Given the description of an element on the screen output the (x, y) to click on. 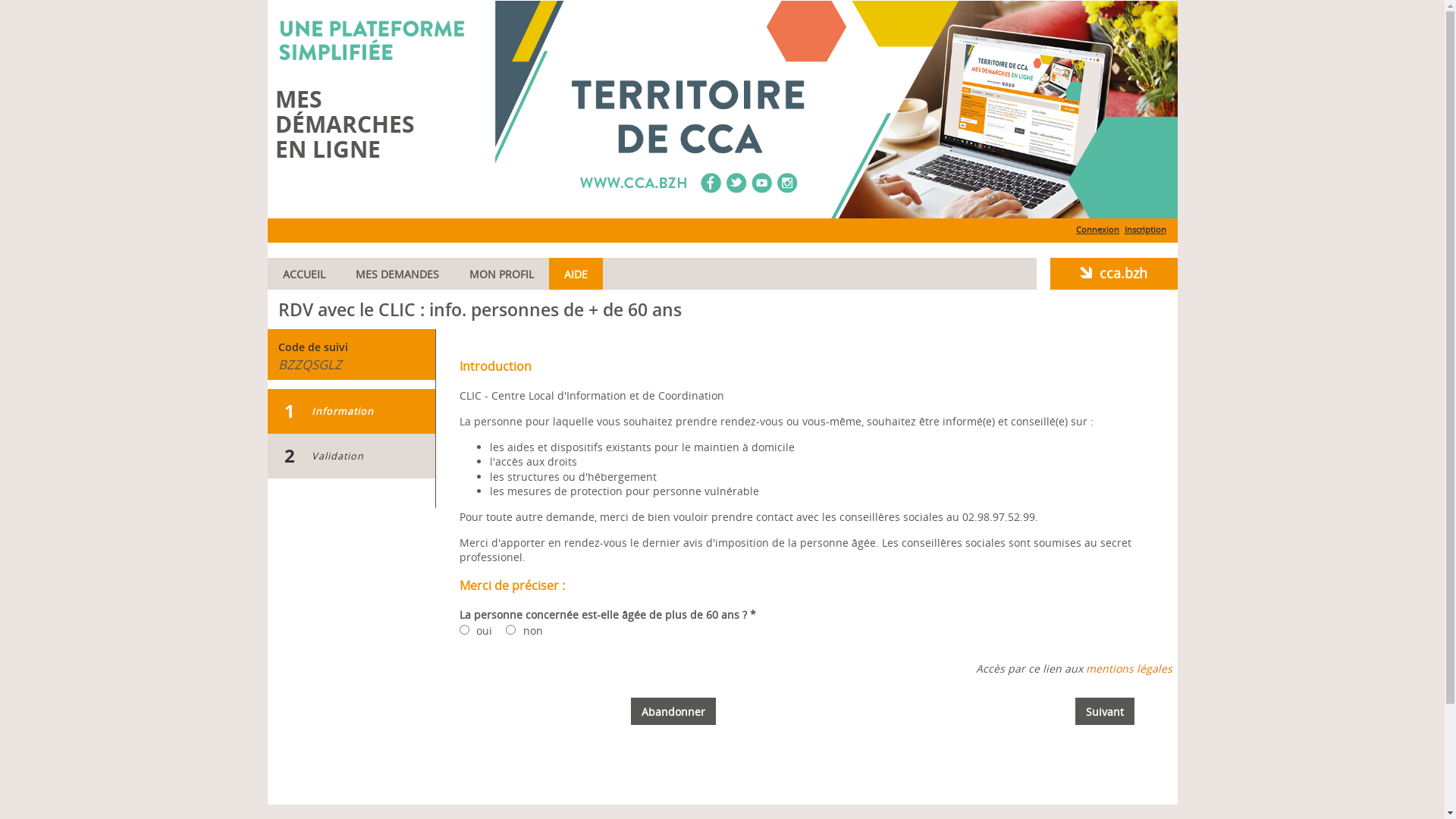
Abandonner Element type: text (672, 711)
Inscription Element type: text (1144, 229)
Suivant Element type: text (1104, 711)
cca.bzh Element type: text (1113, 272)
MON PROFIL Element type: text (500, 273)
AIDE Element type: text (575, 273)
BZZQSGLZ Element type: text (308, 367)
Enregistrer en tant que brouillon Element type: text (94, 14)
MES DEMANDES Element type: text (396, 273)
Connexion Element type: text (1097, 229)
ACCUEIL Element type: text (302, 273)
